Given the description of an element on the screen output the (x, y) to click on. 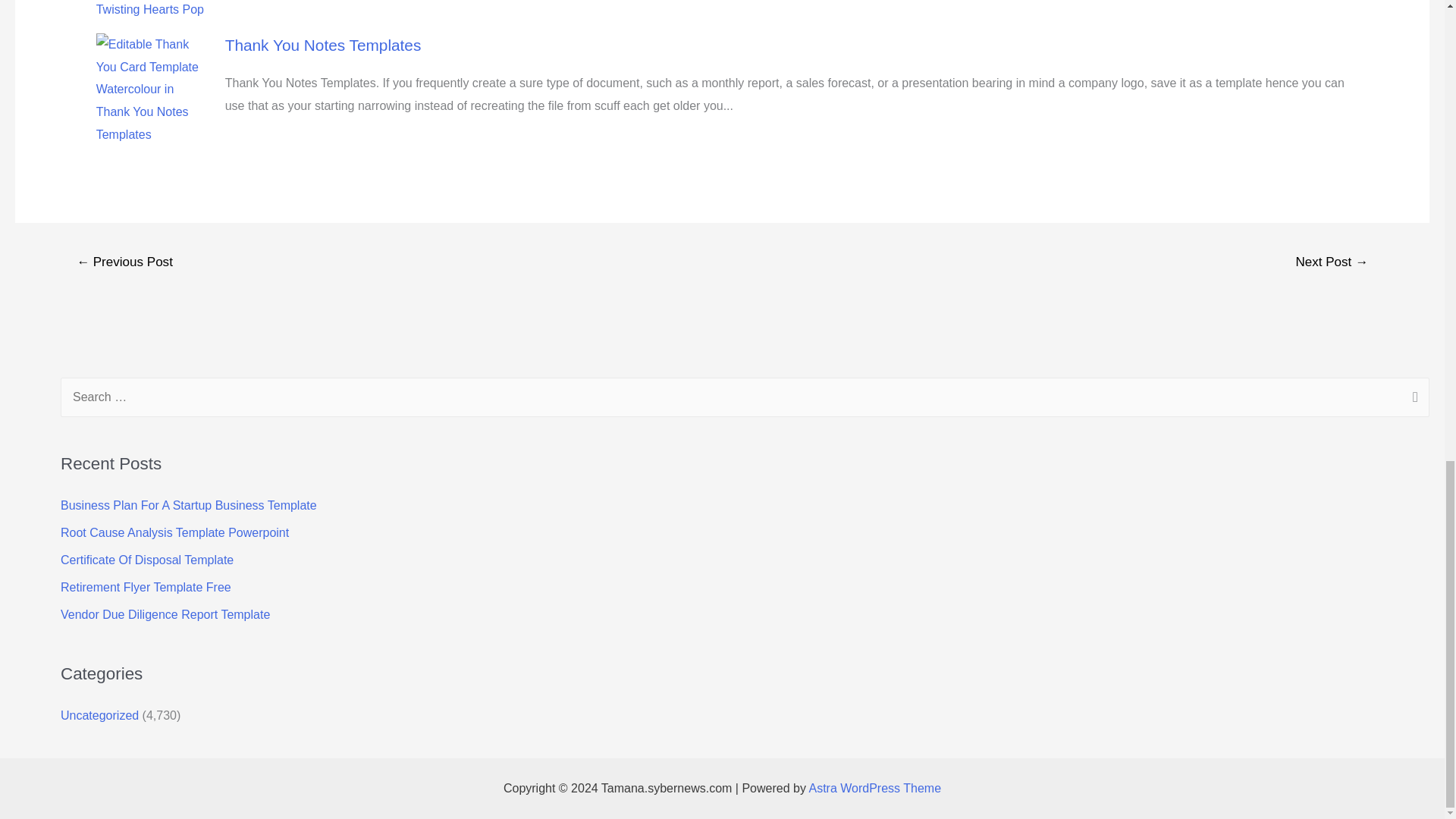
Retirement Flyer Template Free (146, 586)
Uncategorized (99, 715)
Certificate Of Disposal Template (146, 559)
Vendor Due Diligence Report Template (165, 614)
Search (1411, 398)
Root Cause Analysis Template Powerpoint (174, 532)
Search (1411, 398)
Thank You Notes Templates (323, 45)
Business Plan For A Startup Business Template (189, 504)
Search (1411, 398)
Astra WordPress Theme (874, 788)
